Given the description of an element on the screen output the (x, y) to click on. 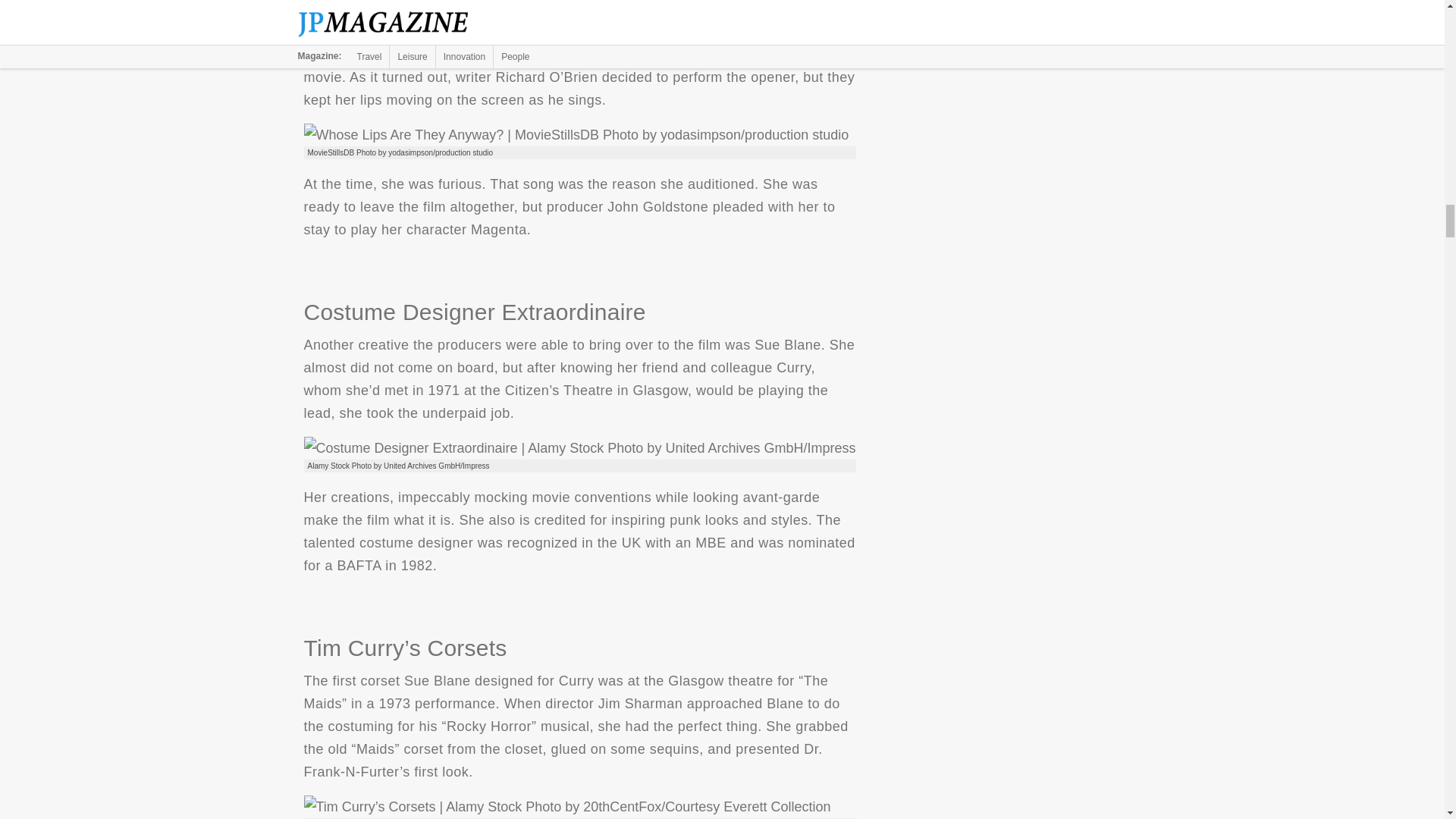
Costume Designer Extraordinaire (579, 447)
Whose Lips Are They Anyway? (575, 134)
